Given the description of an element on the screen output the (x, y) to click on. 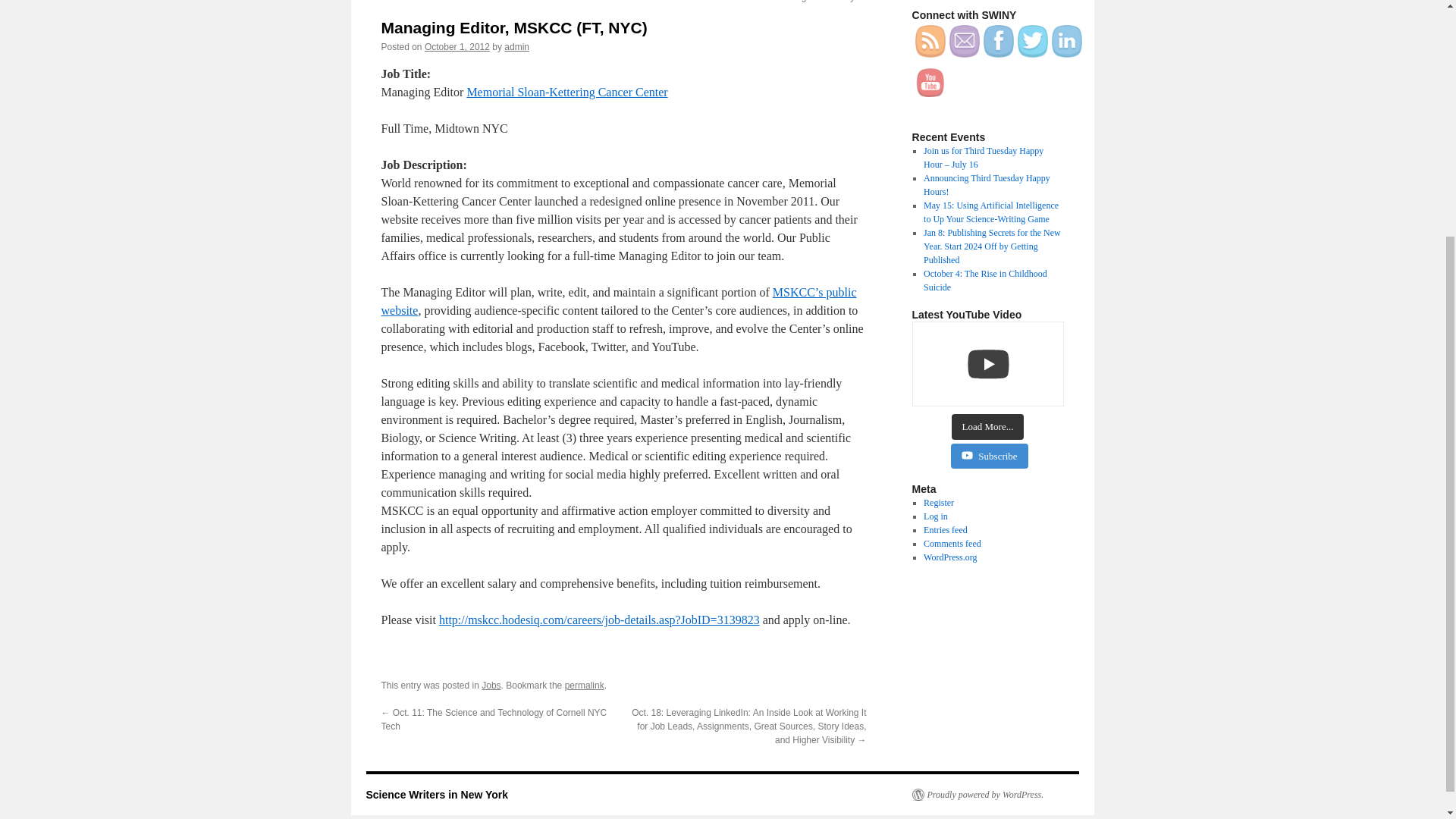
permalink (584, 685)
October 1, 2012 (457, 46)
Announcing Third Tuesday Happy Hours! (986, 184)
LinkedIn (1066, 41)
Memorial Sloan-Kettering Cancer Center (565, 91)
Follow by Email (964, 41)
Jobs (490, 685)
10:36 pm (457, 46)
View all posts by admin (516, 46)
Facebook (997, 41)
